Given the description of an element on the screen output the (x, y) to click on. 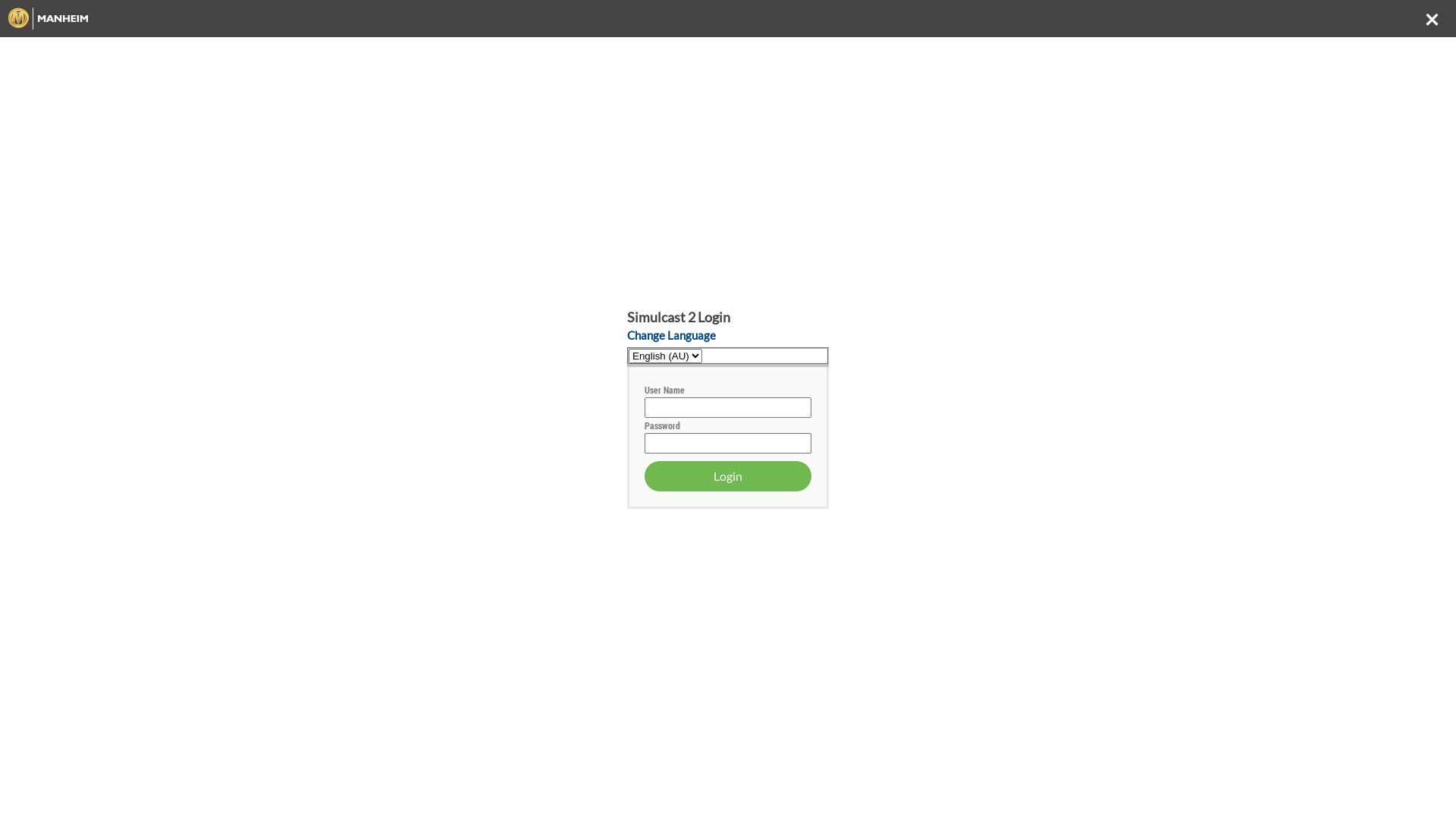
Close Simulcast Element type: hover (1431, 18)
Login Element type: text (727, 476)
